Given the description of an element on the screen output the (x, y) to click on. 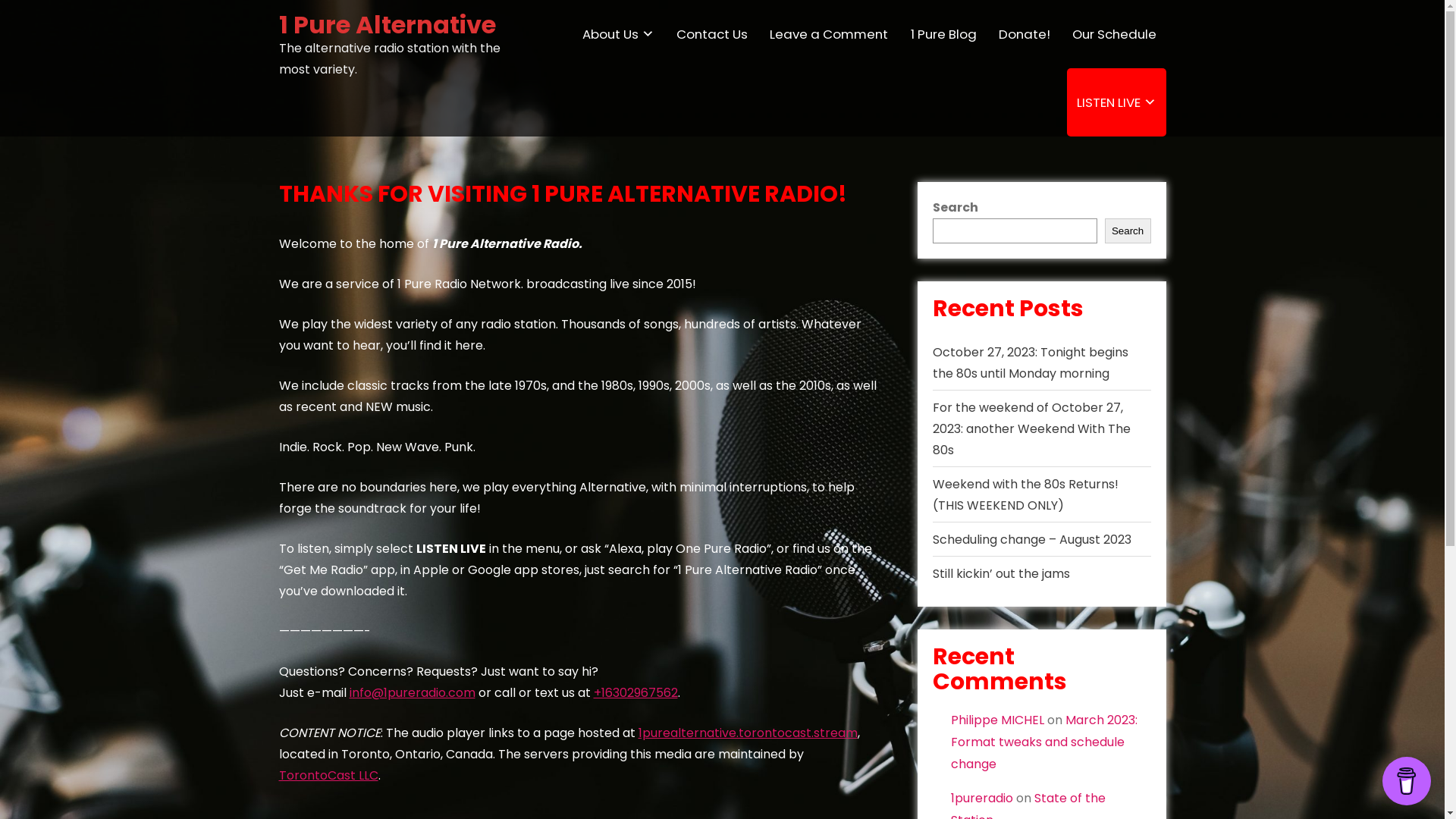
Philippe MICHEL Element type: text (997, 719)
LISTEN LIVE Element type: text (1115, 102)
March 2023: Format tweaks and schedule change Element type: text (1043, 741)
TorontoCast LLC Element type: text (328, 775)
+16302967562 Element type: text (635, 692)
Donate! Element type: text (1023, 34)
1 Pure Blog Element type: text (942, 34)
Search Element type: text (1127, 230)
1purealternative.torontocast.stream Element type: text (747, 732)
1 Pure Alternative Element type: text (387, 24)
Leave a Comment Element type: text (828, 34)
Our Schedule Element type: text (1113, 34)
Weekend with the 80s Returns! (THIS WEEKEND ONLY) Element type: text (1025, 494)
About Us Element type: text (617, 34)
1pureradio Element type: text (981, 797)
Contact Us Element type: text (712, 34)
info@1pureradio.com Element type: text (411, 692)
